Given the description of an element on the screen output the (x, y) to click on. 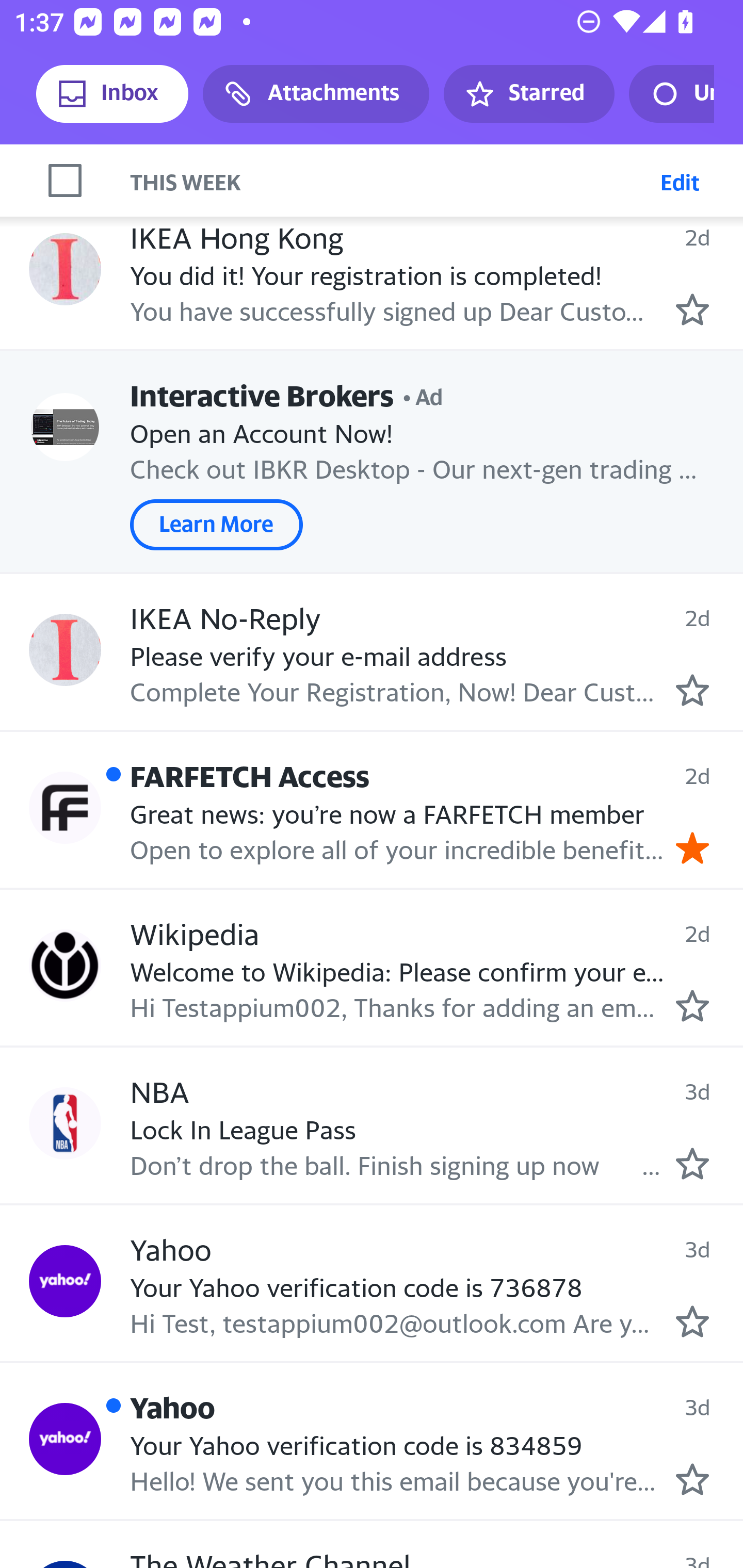
Attachments (315, 93)
Starred (528, 93)
Unread (671, 93)
Profile
IKEA Hong Kong (64, 269)
Mark as starred. (692, 309)
Profile
IKEA No-Reply (64, 649)
Mark as starred. (692, 690)
Profile
FARFETCH Access (64, 807)
Remove star. (692, 847)
Profile
Wikipedia (64, 965)
Mark as starred. (692, 1005)
Profile
NBA (64, 1122)
Mark as starred. (692, 1164)
Profile
Yahoo (64, 1280)
Mark as starred. (692, 1321)
Profile
Yahoo (64, 1439)
Mark as starred. (692, 1479)
